Given the description of an element on the screen output the (x, y) to click on. 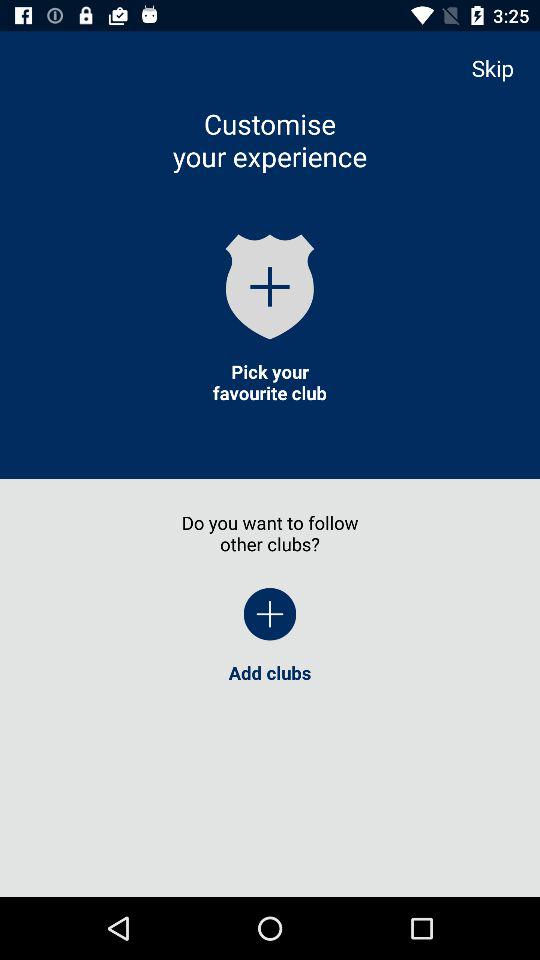
turn off icon above add clubs (269, 614)
